Given the description of an element on the screen output the (x, y) to click on. 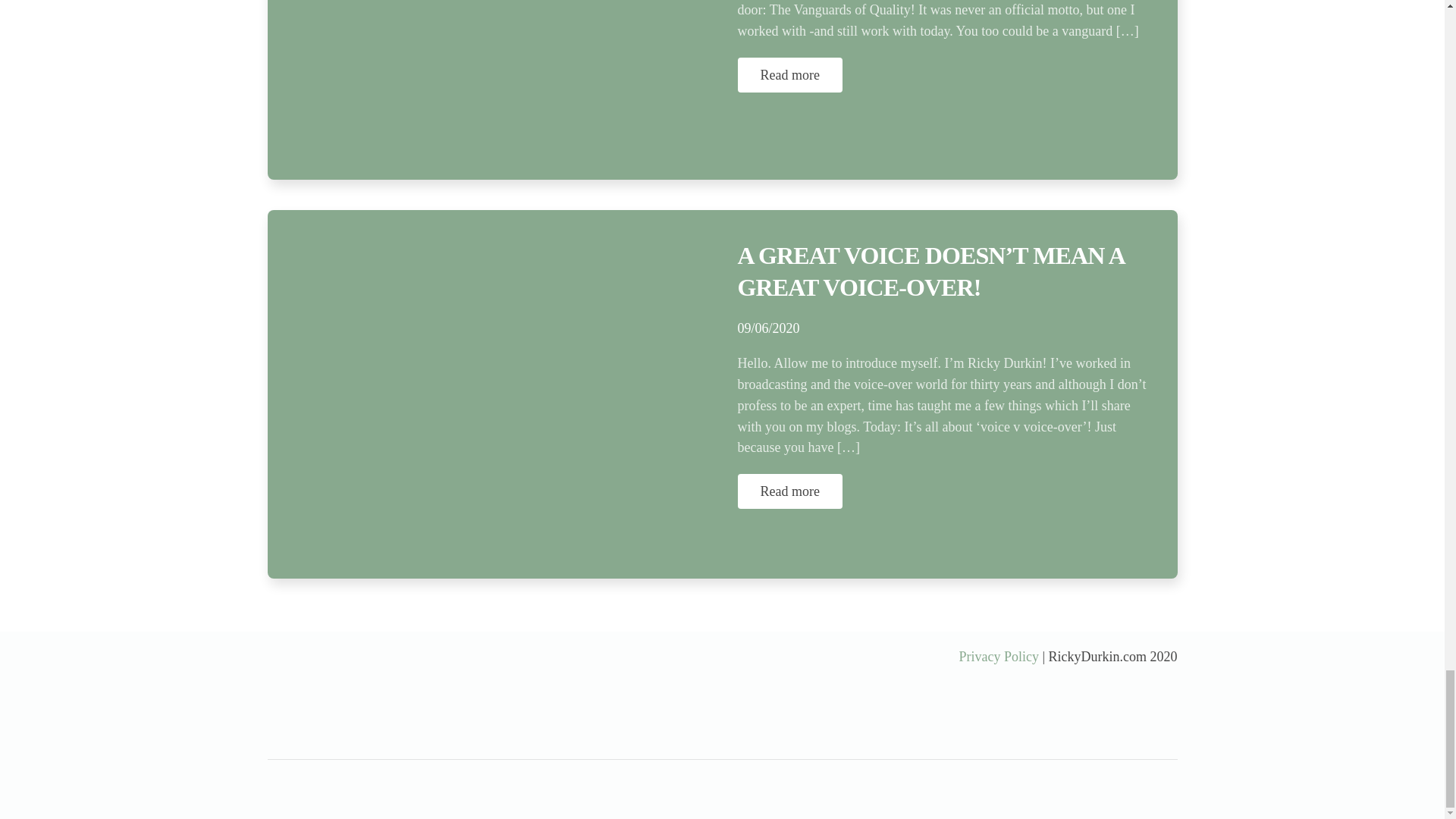
Read more (788, 74)
Read more (788, 491)
Privacy Policy (998, 656)
